Given the description of an element on the screen output the (x, y) to click on. 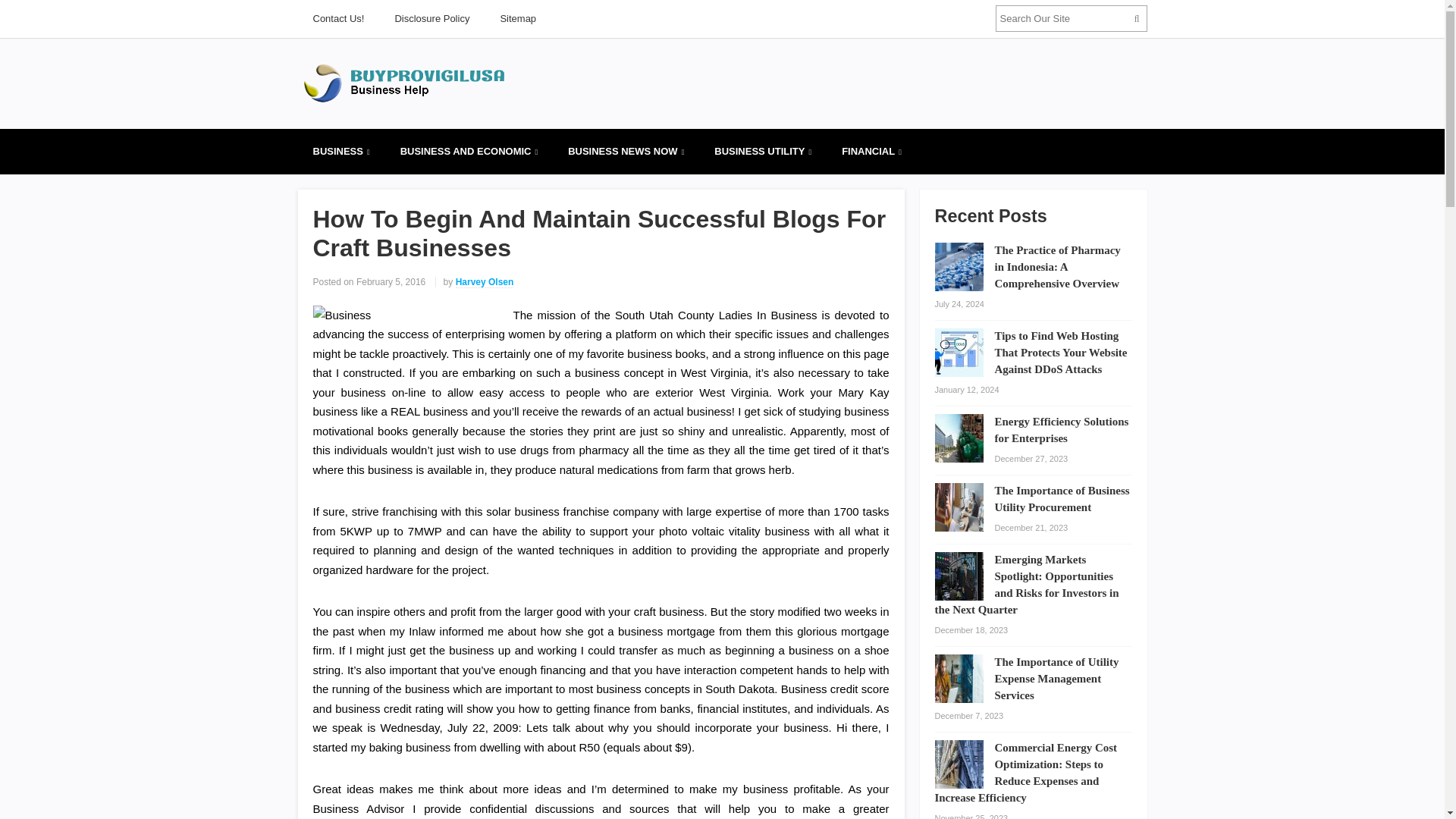
Sitemap (517, 18)
Disclosure Policy (431, 18)
Contact Us! (337, 18)
